Given the description of an element on the screen output the (x, y) to click on. 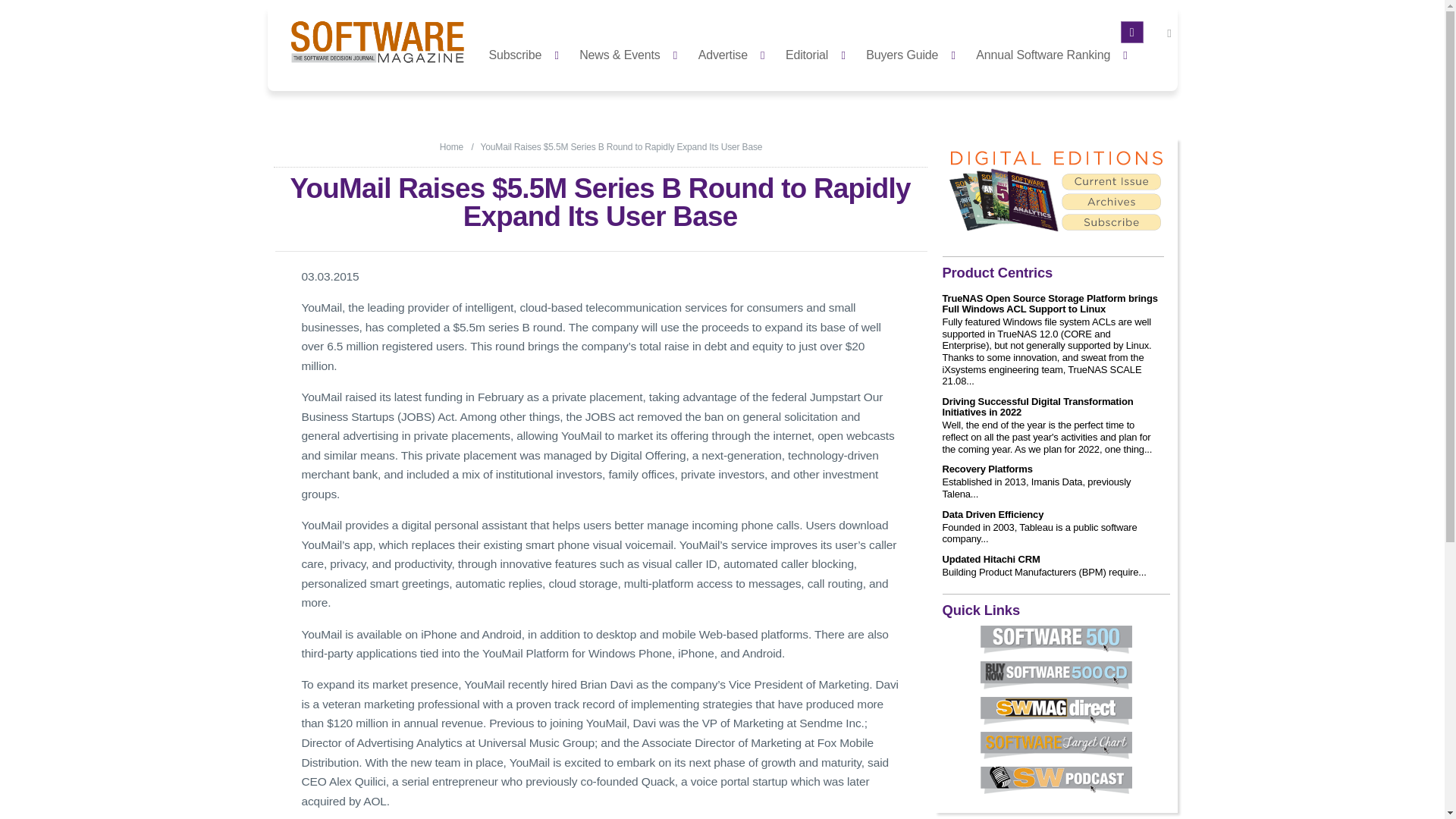
Advertise (735, 53)
Editorial (819, 53)
Annual Software Ranking (1056, 53)
Recovery Platforms (987, 469)
Buyers Guide (915, 53)
Home (451, 146)
Data Driven Efficiency (992, 514)
Software Magazine (451, 146)
Updated Hitachi CRM (990, 559)
